Given the description of an element on the screen output the (x, y) to click on. 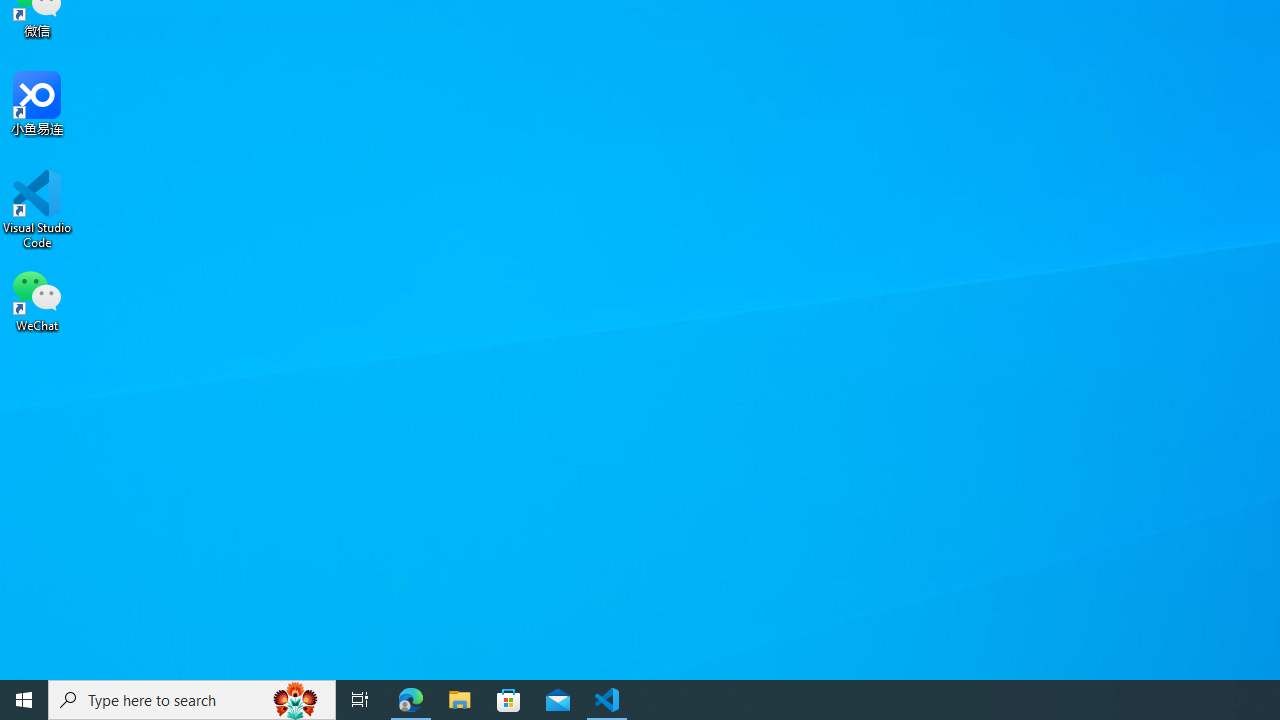
WeChat (37, 299)
Visual Studio Code (37, 209)
